Given the description of an element on the screen output the (x, y) to click on. 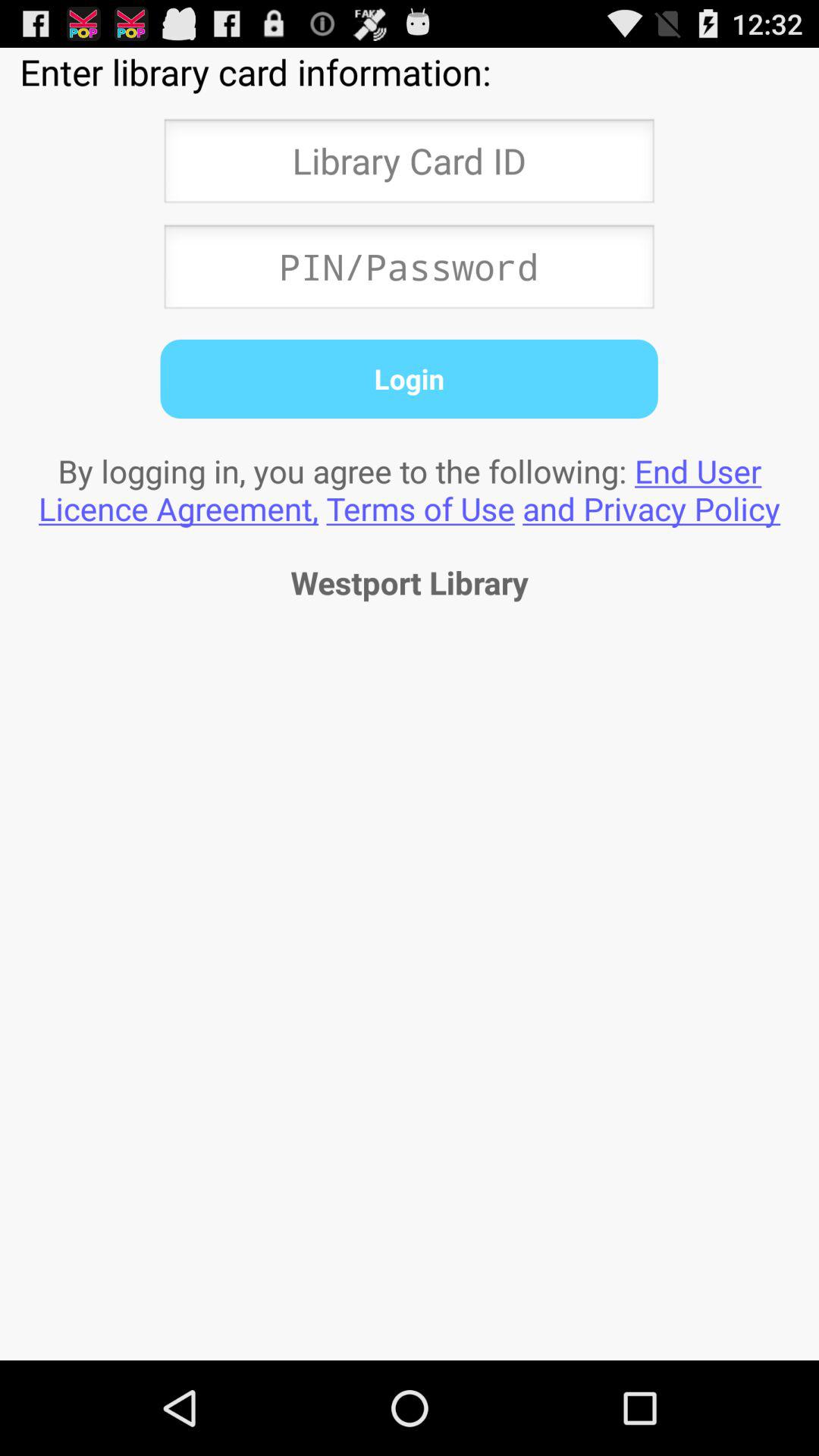
enter password (409, 271)
